Given the description of an element on the screen output the (x, y) to click on. 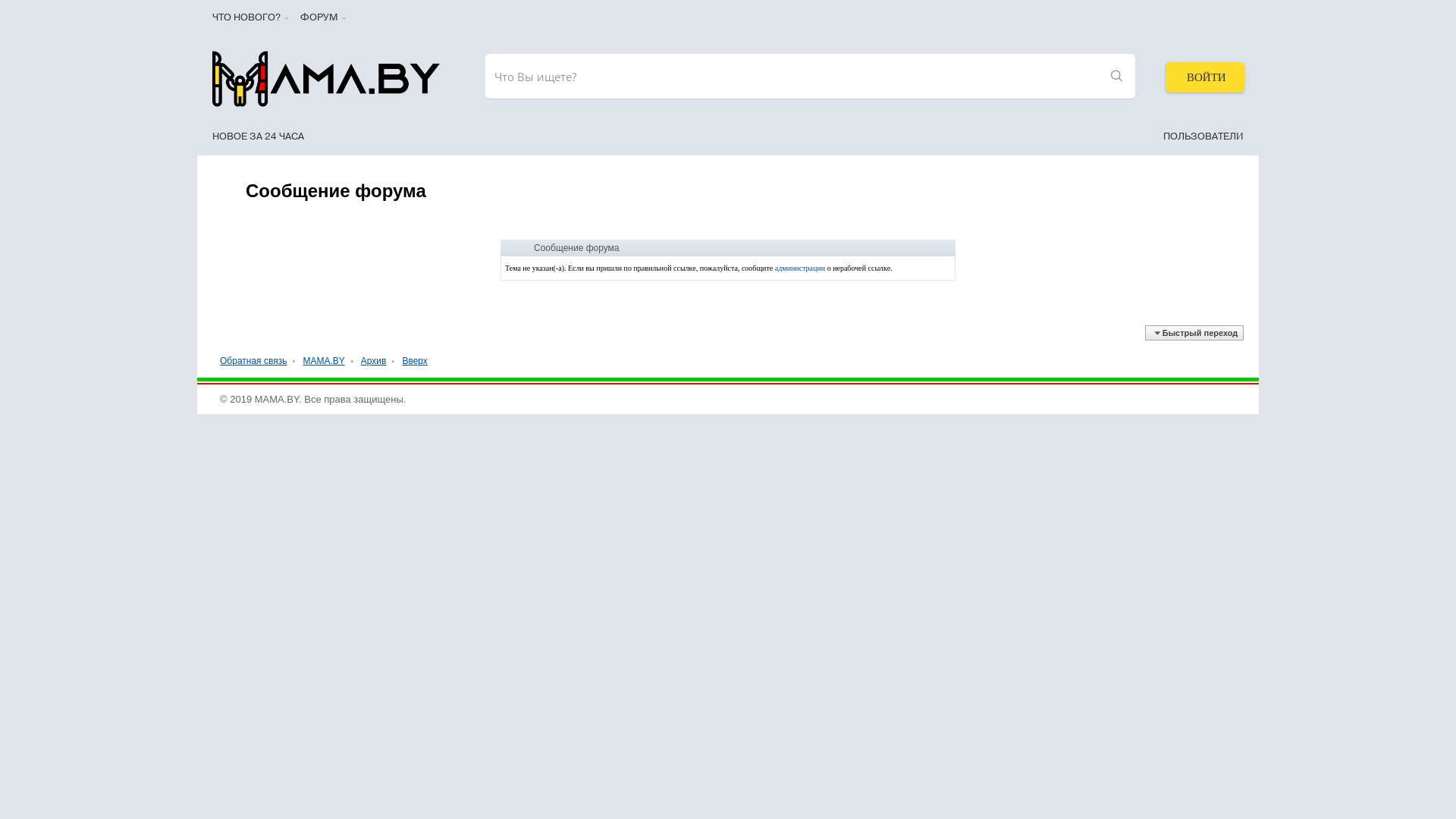
Forum.MAMA.BY - Powered by vBulletin Element type: hover (325, 78)
MAMA.BY Element type: text (323, 360)
